Given the description of an element on the screen output the (x, y) to click on. 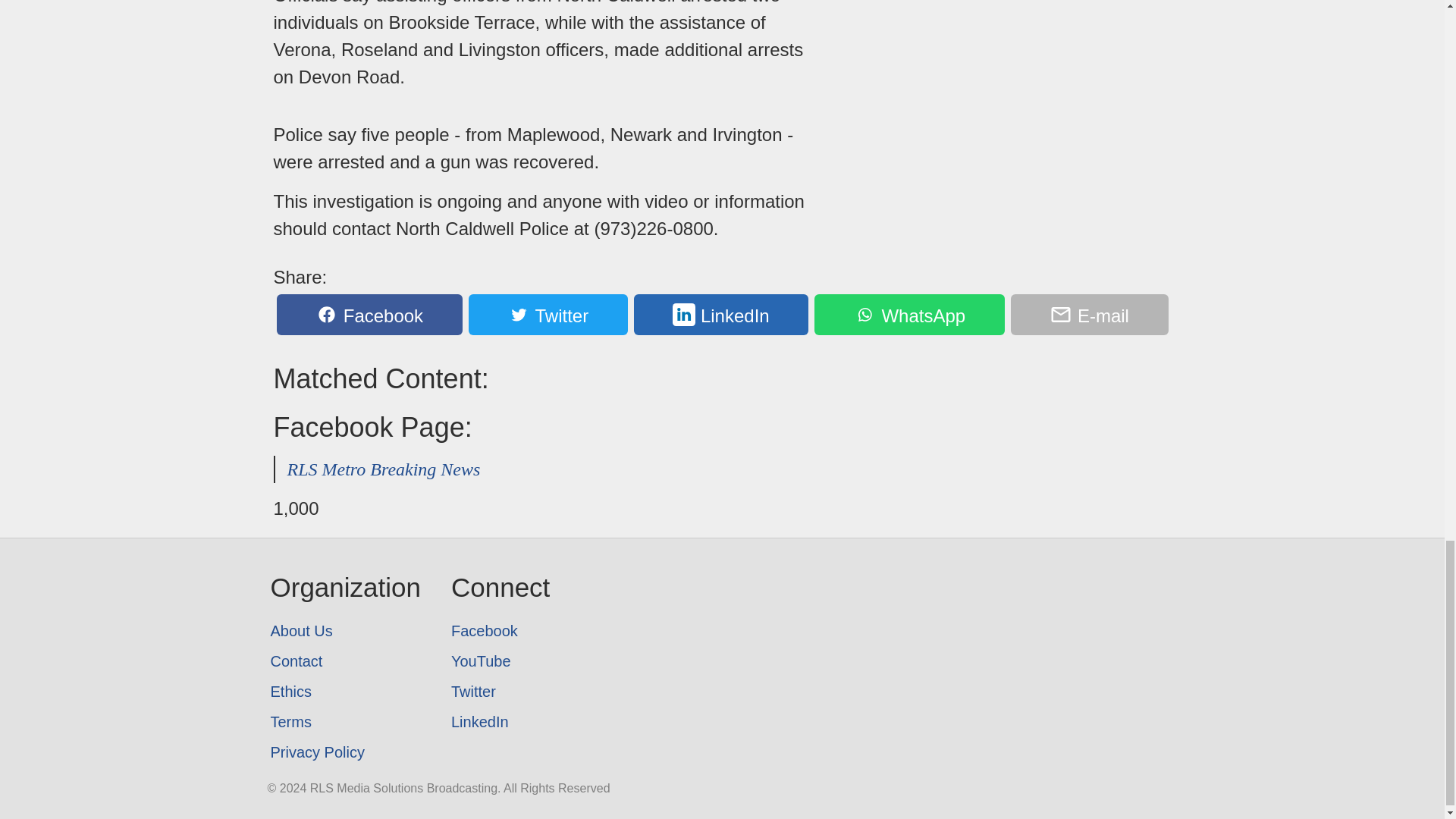
Twitter Account (500, 691)
View our latest videos (500, 661)
Twitter (547, 314)
E-mail (1089, 314)
Contact Us (344, 661)
About Us (344, 630)
WhatsApp (908, 314)
Privacy Policy (344, 752)
LinkedIn (721, 314)
Facebook (368, 314)
LinkedIn (500, 721)
Ethics (344, 691)
Twitter (500, 691)
YouTube (500, 661)
RLS Metro Breaking News (383, 469)
